Given the description of an element on the screen output the (x, y) to click on. 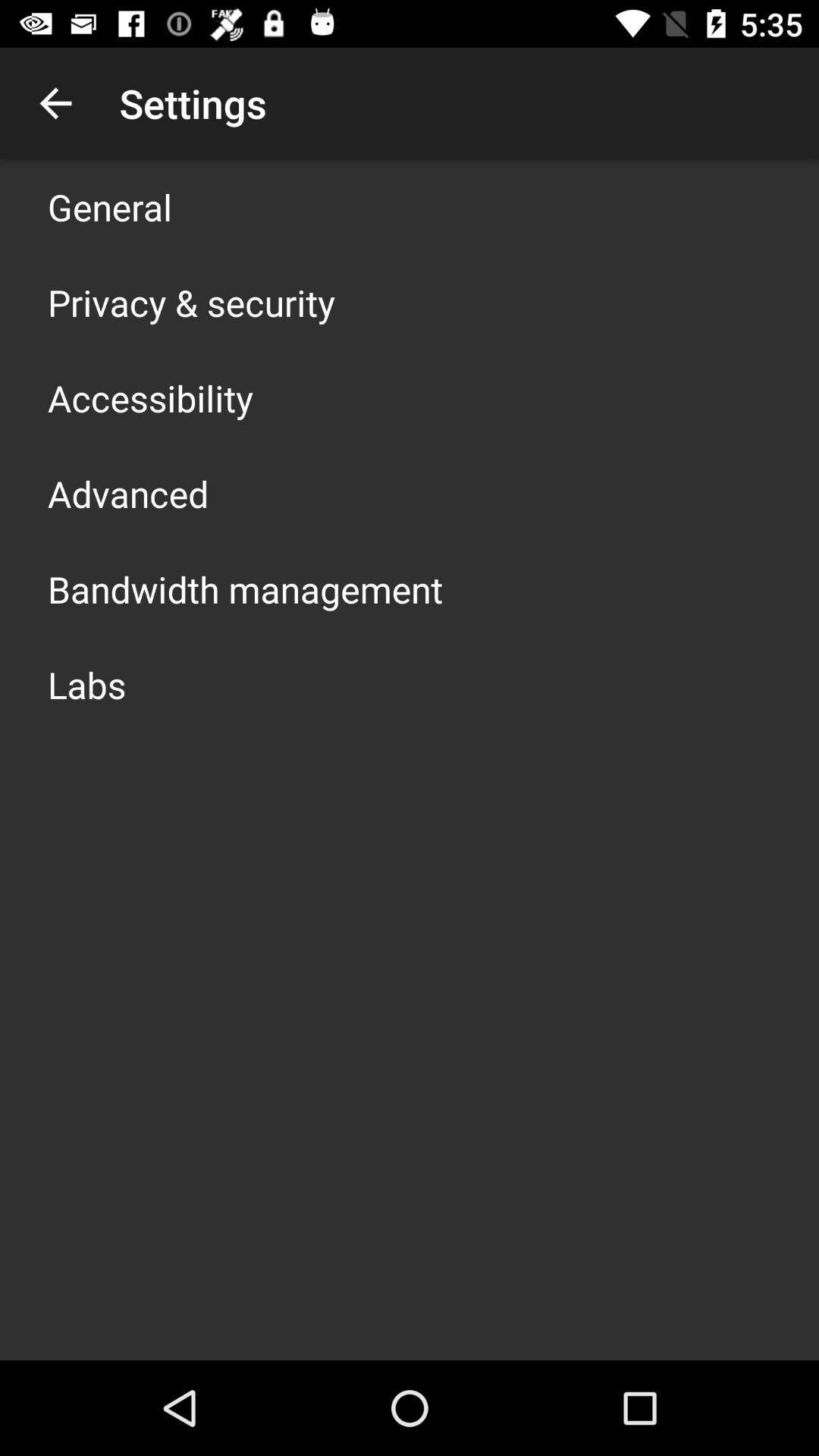
turn on the app to the left of the settings app (55, 103)
